Given the description of an element on the screen output the (x, y) to click on. 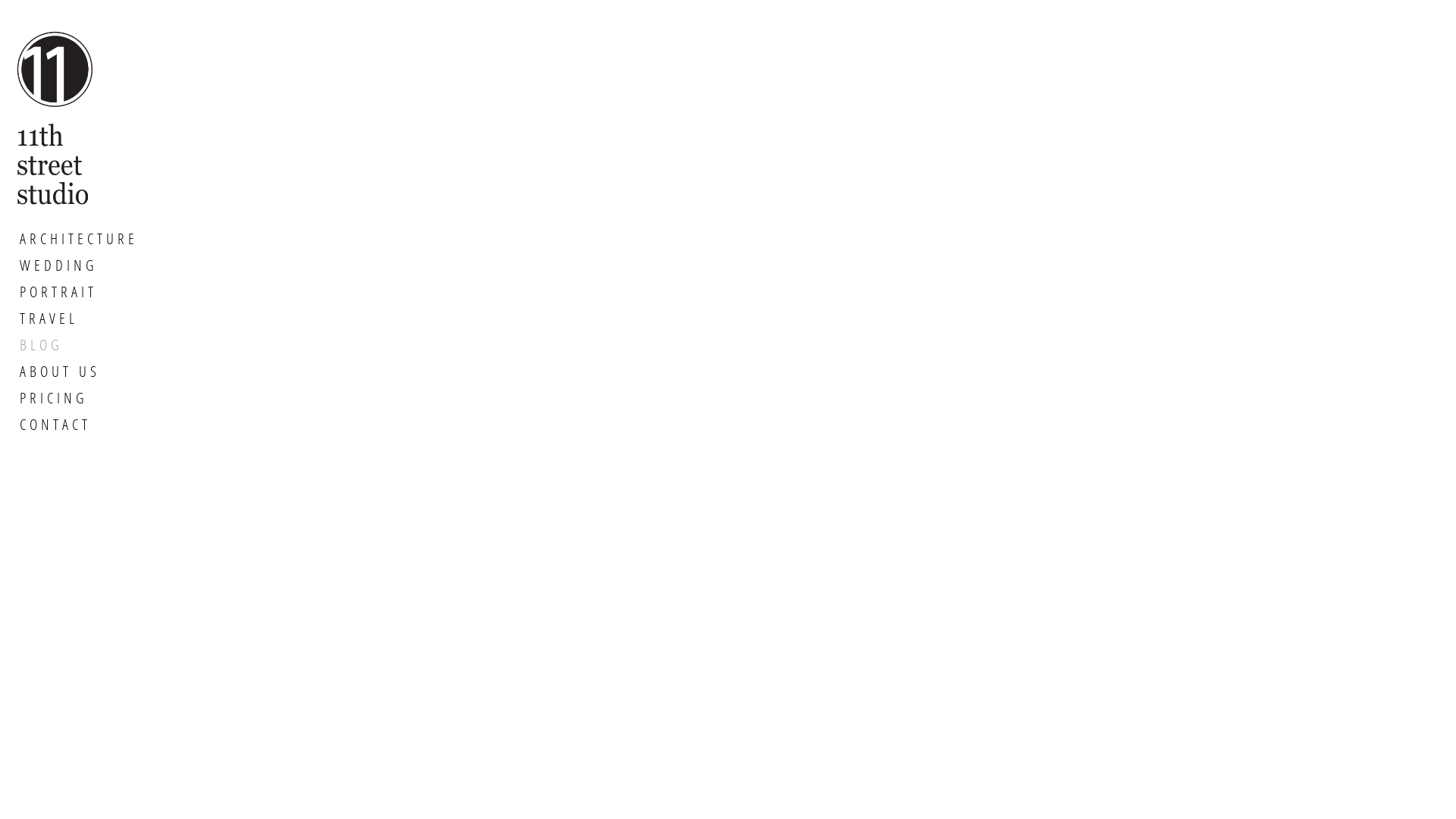
BLOG Element type: text (78, 344)
PORTRAIT Element type: text (78, 291)
CONTACT Element type: text (78, 424)
ABOUT US Element type: text (78, 371)
PRICING Element type: text (78, 397)
ARCHITECTURE Element type: text (78, 238)
WEDDING Element type: text (78, 265)
TRAVEL Element type: text (78, 318)
